Given the description of an element on the screen output the (x, y) to click on. 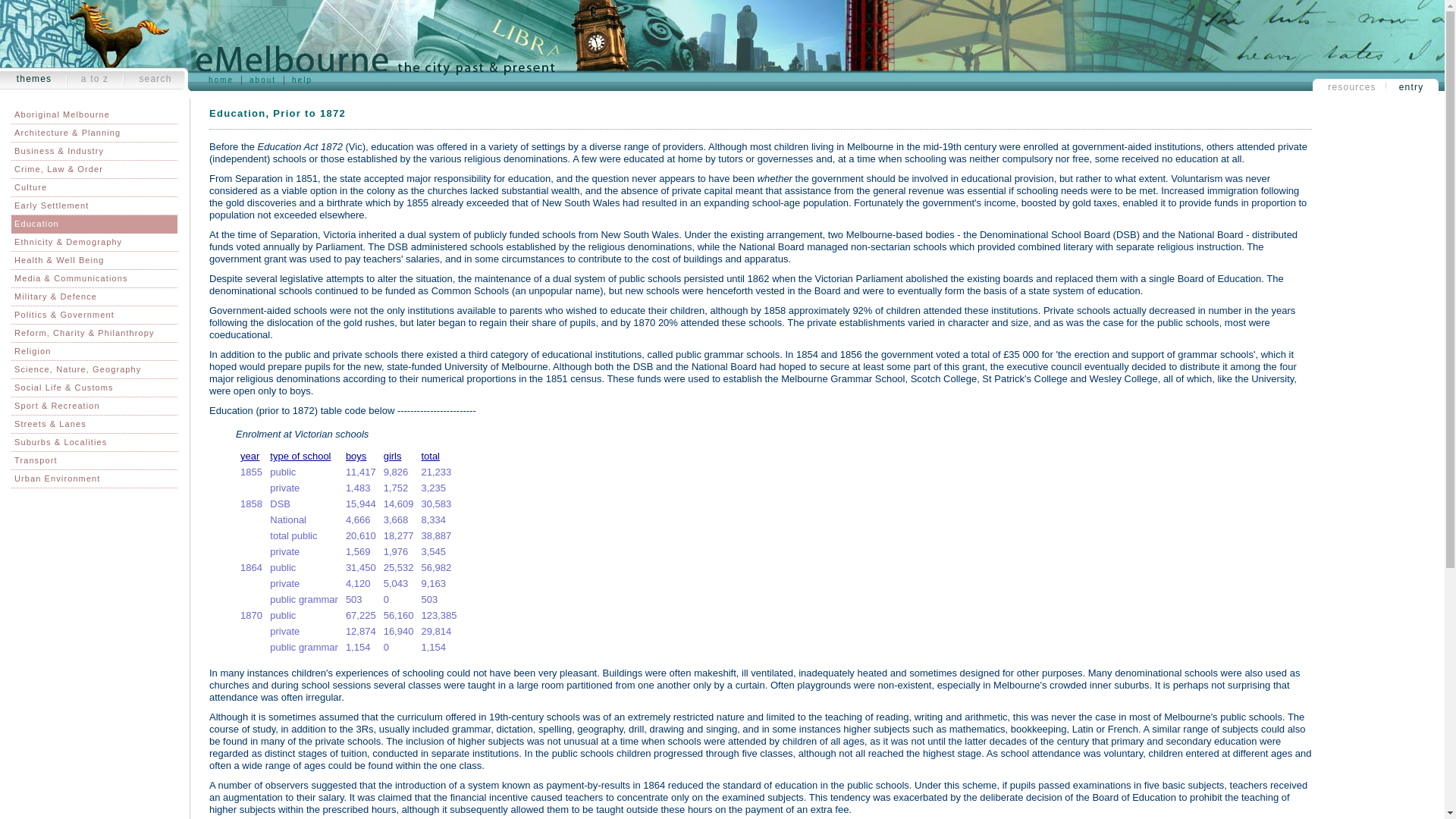
Aboriginal Melbourne (94, 115)
Early Settlement (94, 206)
about (262, 80)
resources (1351, 86)
Culture (94, 188)
Urban Environment (94, 479)
Science, Nature, Geography (94, 370)
Transport (94, 461)
help (302, 80)
search (154, 78)
